Given the description of an element on the screen output the (x, y) to click on. 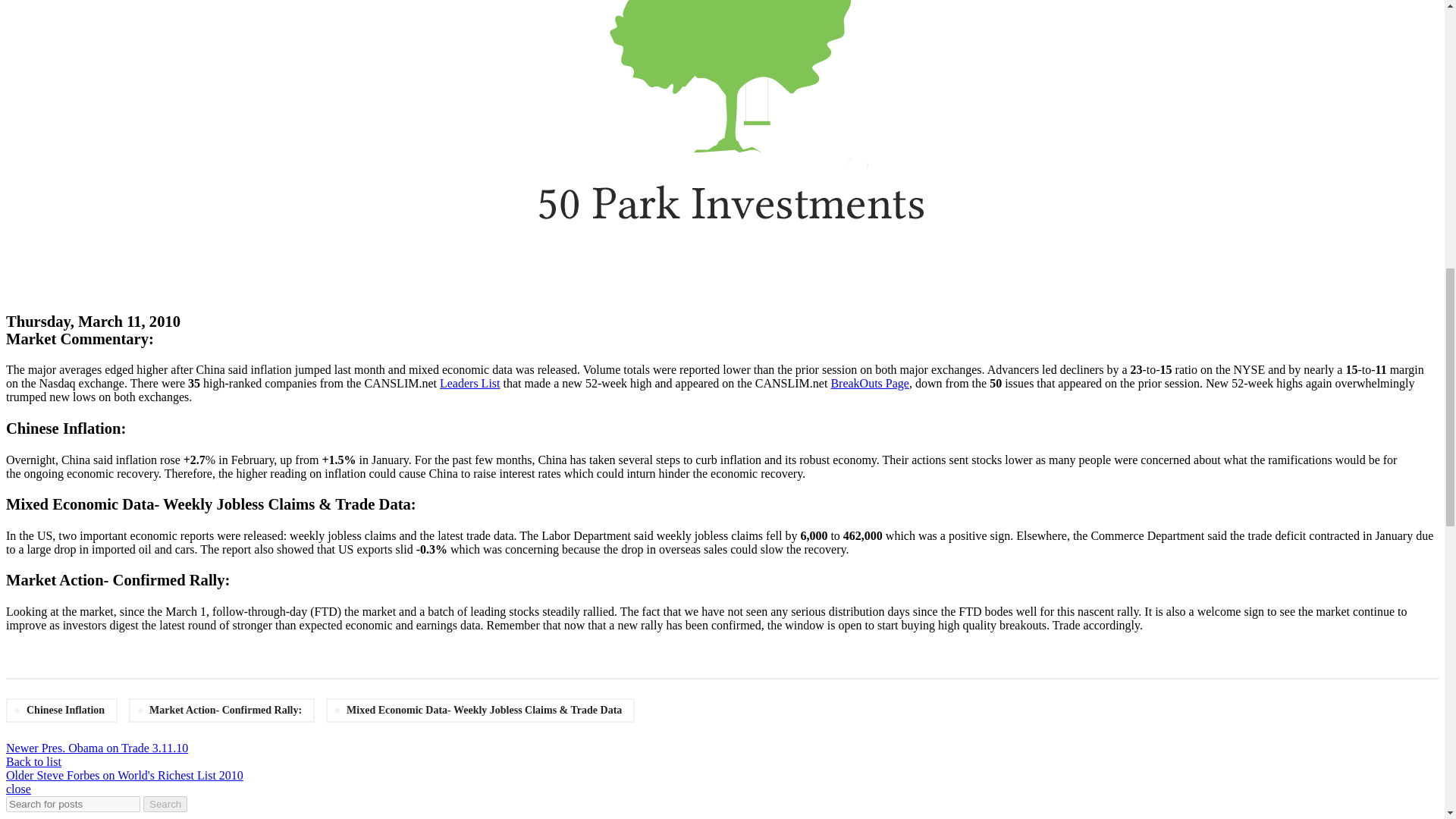
Market Action- Confirmed Rally: (221, 710)
Back to list (33, 761)
Older Steve Forbes on World's Richest List 2010 (124, 775)
close (17, 788)
BreakOuts Page (868, 382)
Leaders List (469, 382)
Chinese Inflation (61, 710)
Newer Pres. Obama on Trade 3.11.10 (96, 748)
Search for posts (72, 804)
